Given the description of an element on the screen output the (x, y) to click on. 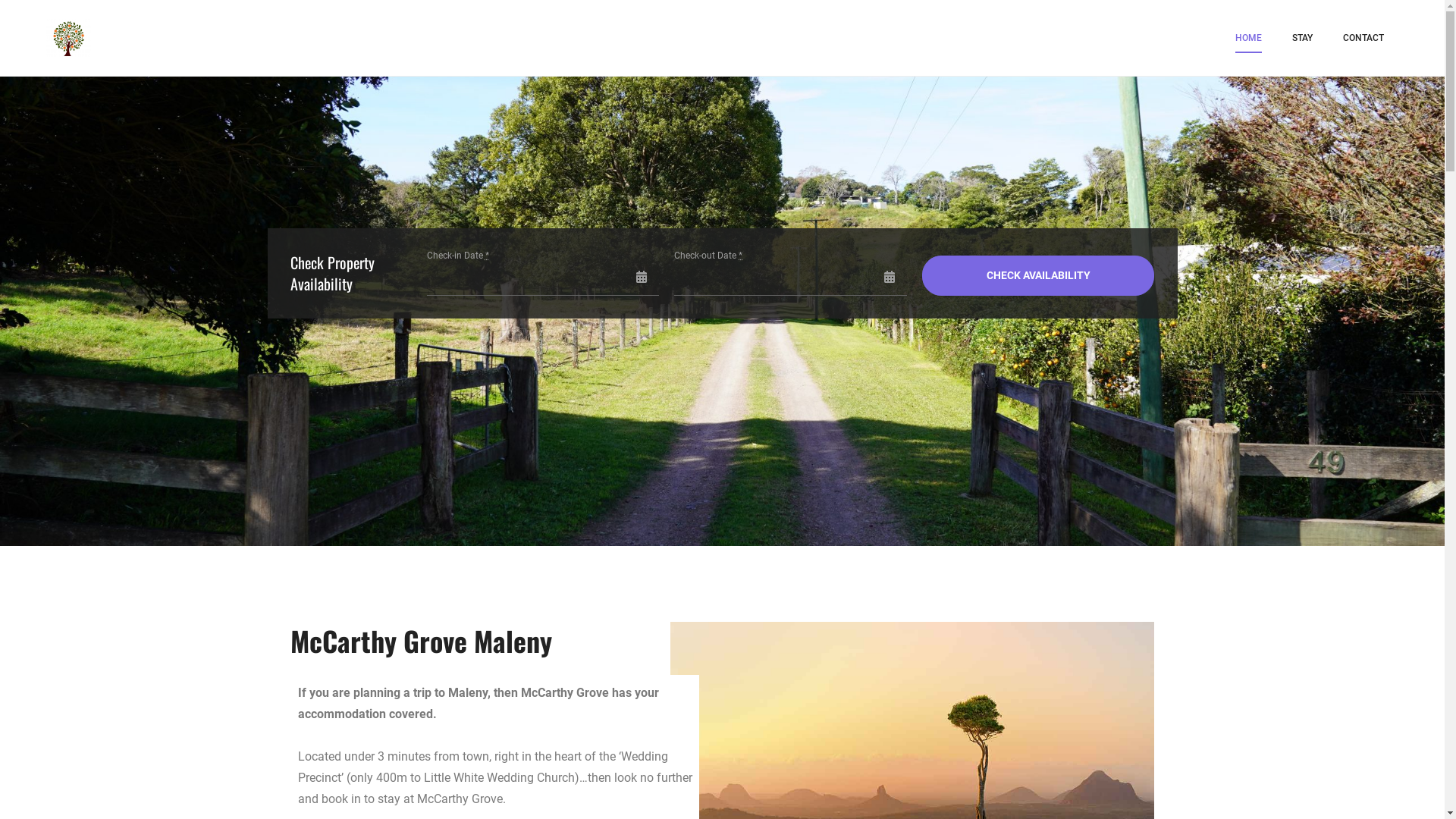
HOME Element type: text (1248, 37)
49 McCarthy Rd, Maleny Queesnland Element type: text (721, 518)
CONTACT Element type: text (1363, 37)
McCarthy Grove Element type: text (163, 47)
info@mccarthygrove.com.au Element type: text (721, 554)
Tripadvisor Element type: text (761, 623)
Facebook Element type: text (689, 623)
Check Availability Element type: text (1038, 274)
Instagram Element type: text (723, 623)
STAY Element type: text (1302, 37)
